Given the description of an element on the screen output the (x, y) to click on. 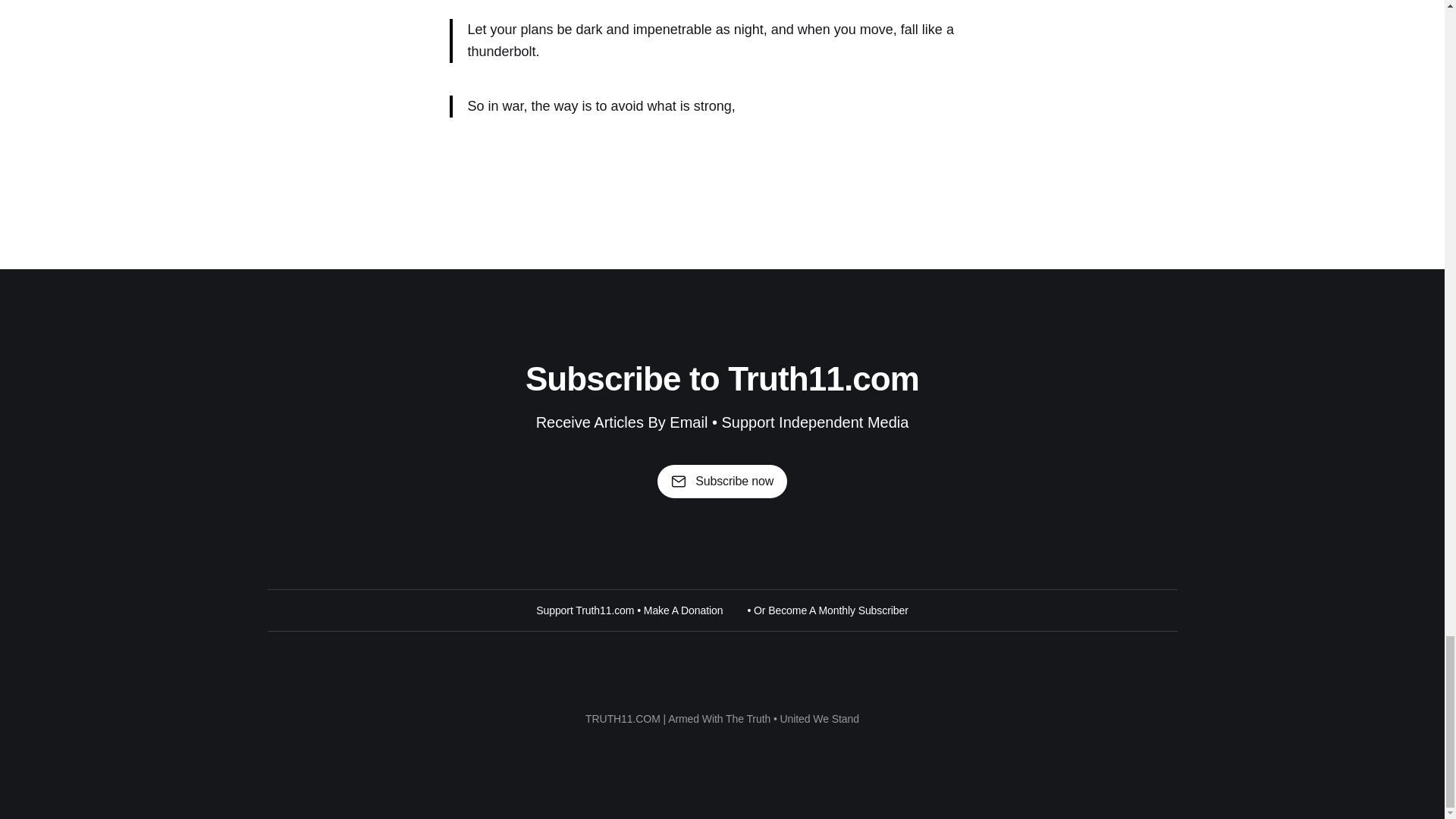
Subscribe now (722, 481)
